Given the description of an element on the screen output the (x, y) to click on. 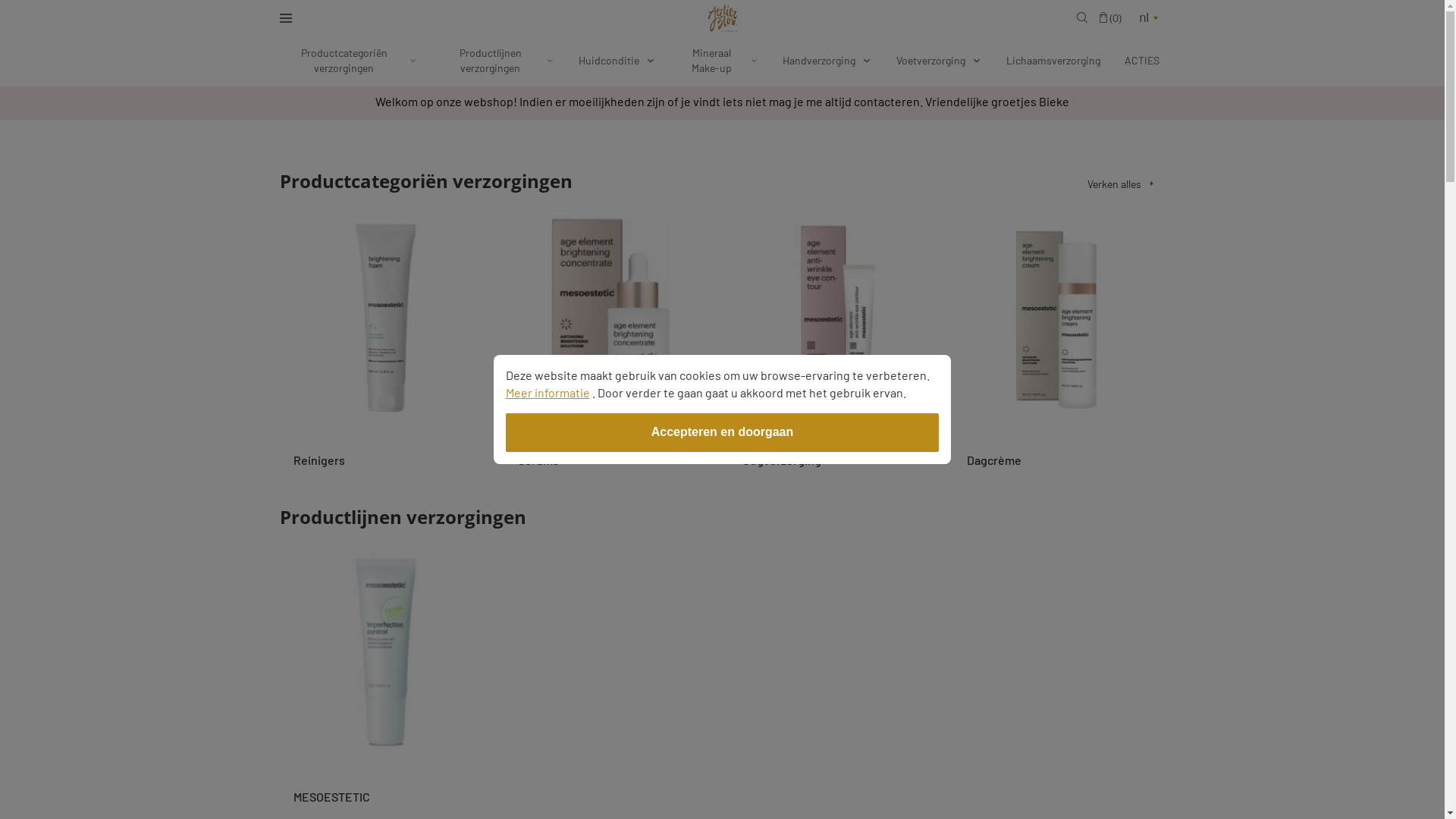
Meer informatie Element type: text (547, 392)
Handverzorging Element type: text (827, 60)
Voetverzorging Element type: text (939, 60)
Verken alles Element type: text (1126, 183)
Reinigers Element type: text (385, 347)
Huidconditie Element type: text (616, 60)
Productlijnen verzorgingen Element type: text (497, 60)
ACTIES Element type: text (1140, 60)
Lichaamsverzorging Element type: text (1052, 60)
(0) Element type: text (1110, 17)
Mineraal Make-up Element type: text (719, 60)
Serums Element type: text (609, 347)
Oogverzorging Element type: text (834, 347)
Accepteren en doorgaan Element type: text (722, 432)
